Given the description of an element on the screen output the (x, y) to click on. 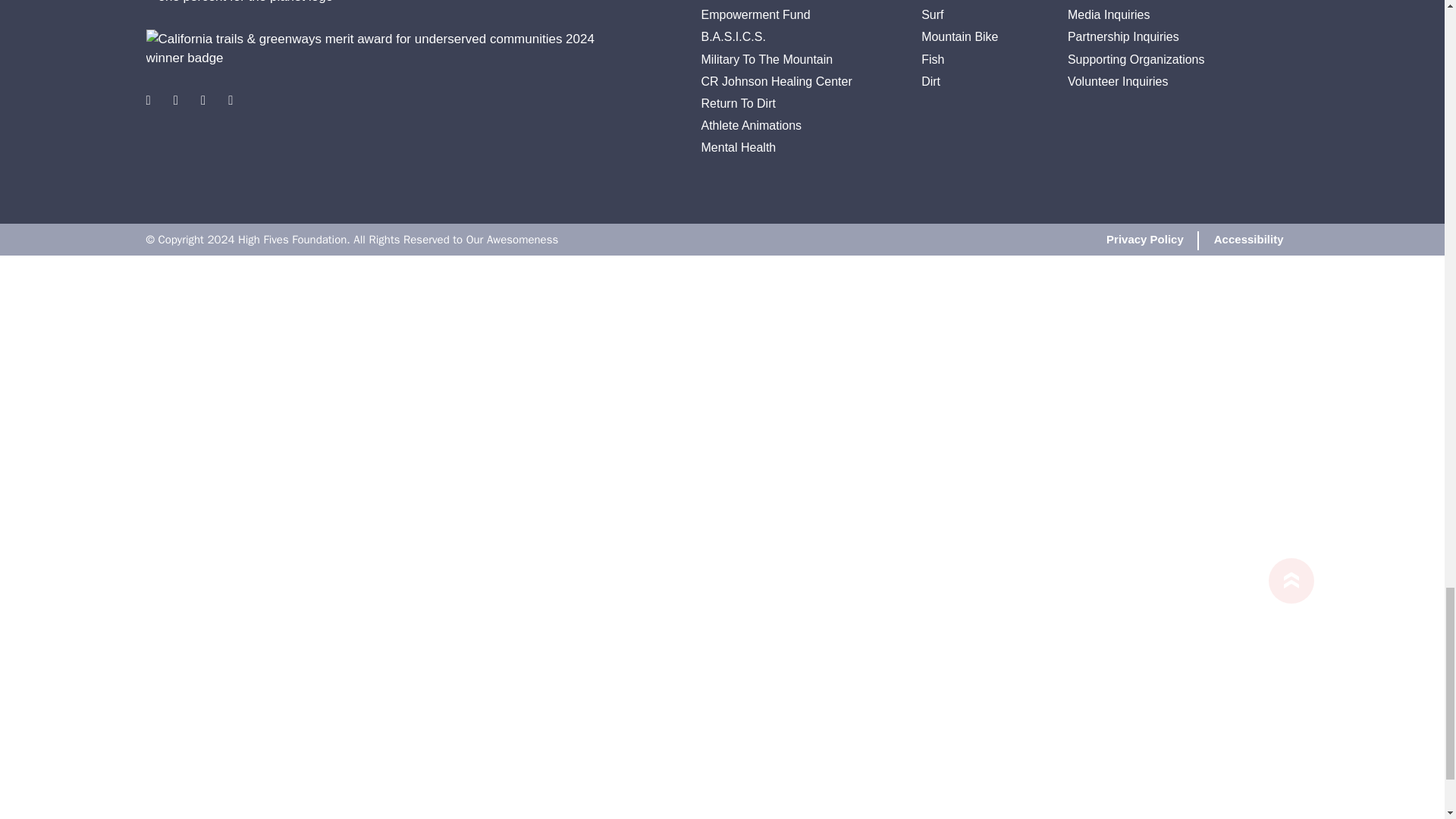
One Percent for the Planet (239, 3)
